Given the description of an element on the screen output the (x, y) to click on. 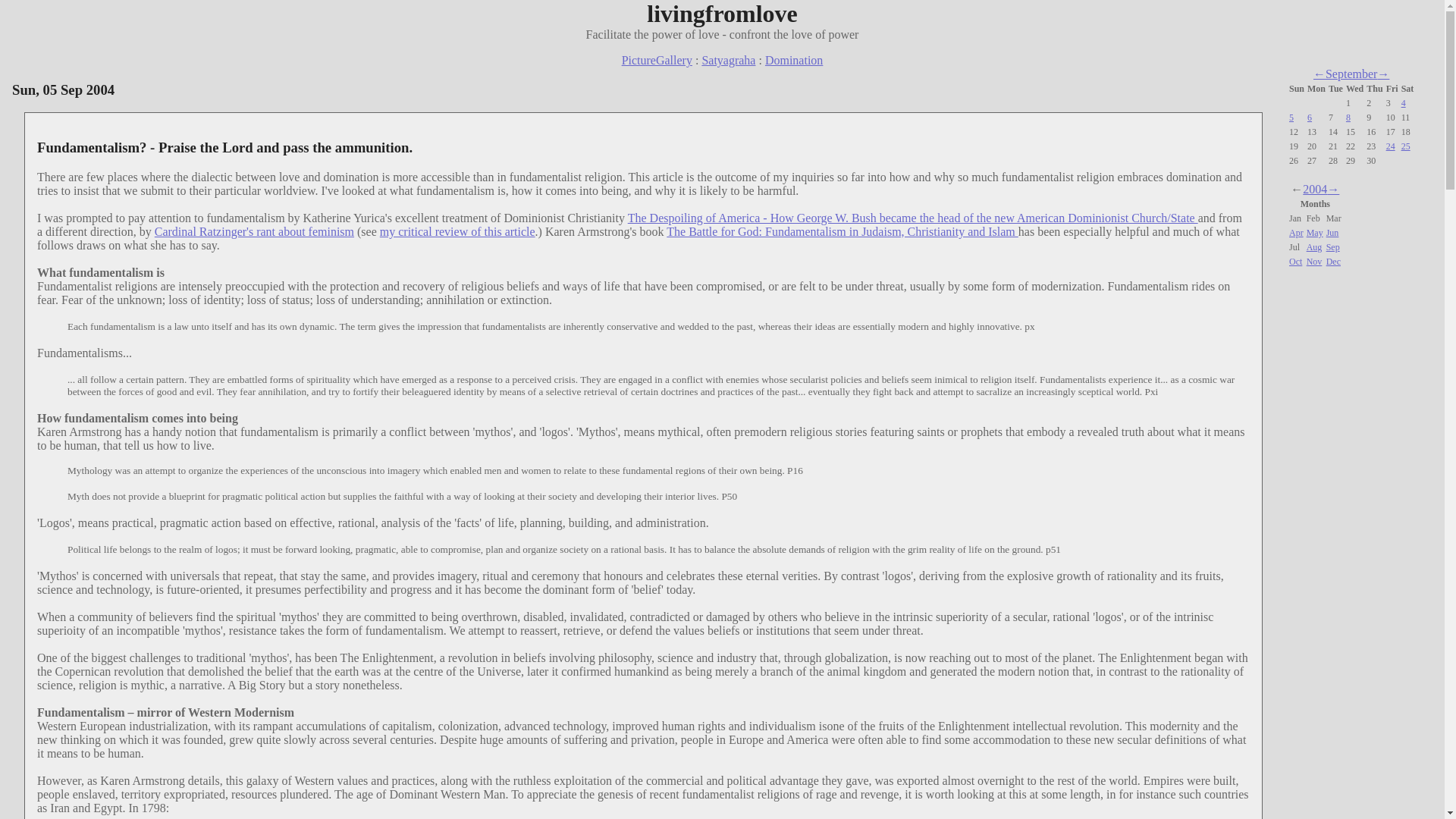
Domination (793, 60)
Oct (1294, 261)
Dec (1333, 261)
livingfromlove (721, 13)
Aug (1314, 246)
Jun (1332, 232)
Satyagraha (728, 60)
Sep (1332, 246)
my critical review of this article (457, 231)
2004 (1314, 188)
Cardinal Ratzinger's rant about feminism (253, 231)
May (1314, 232)
Nov (1314, 261)
September (1350, 73)
